Given the description of an element on the screen output the (x, y) to click on. 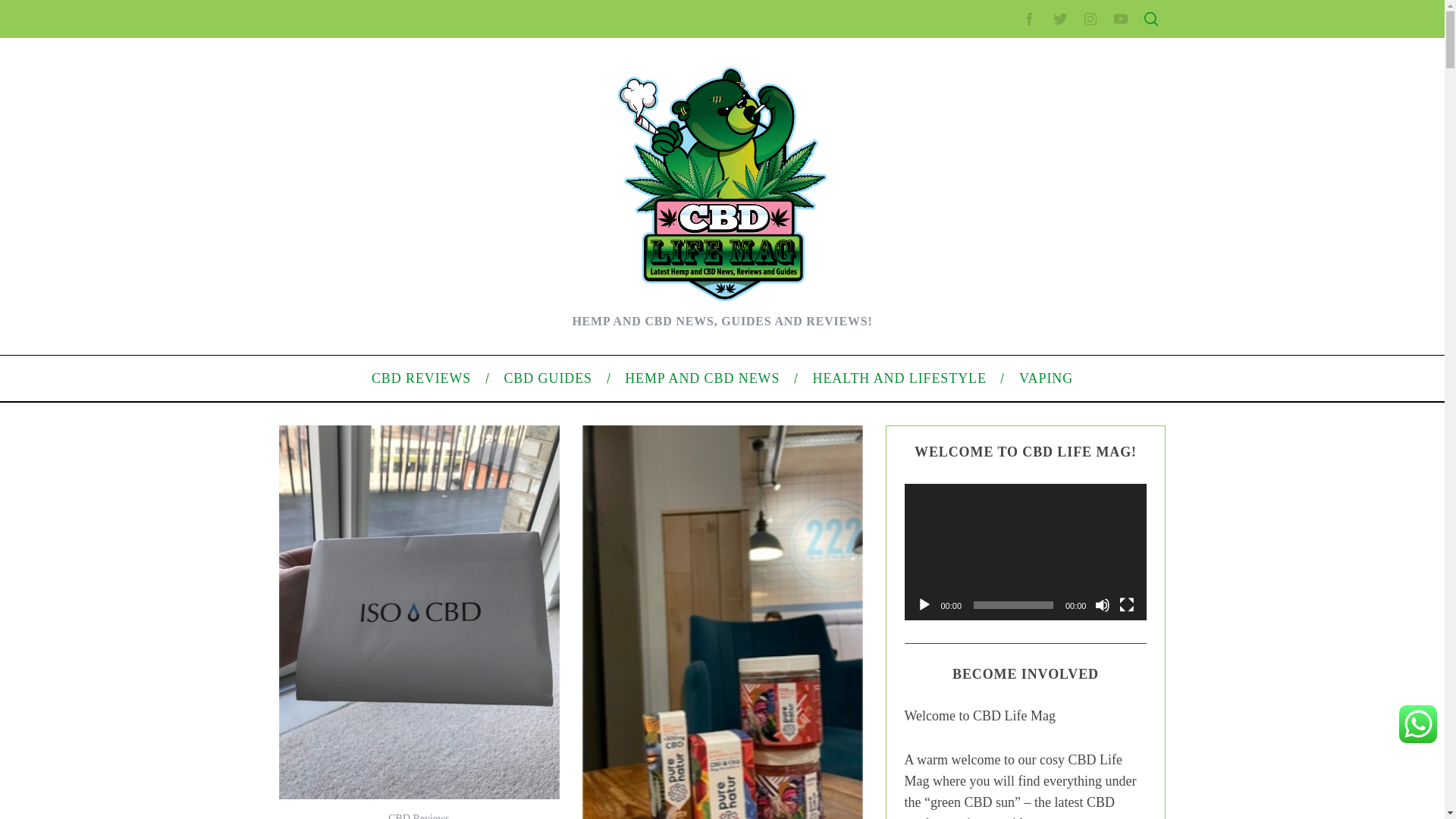
DMCA Policy (996, 282)
Disclaimer (990, 354)
Search (1050, 85)
Skip to content (34, 9)
Joy On Demand: The Art Of Discovering The Happiness Within (469, 273)
Latest Article (996, 172)
Search (1050, 85)
Contact Us (991, 258)
Privacy Policy (999, 306)
The Dark Yorkshire Series: Books 4 To 6 (416, 250)
Search (1050, 85)
Blog (976, 510)
Am Joy (339, 514)
Books (336, 418)
